Given the description of an element on the screen output the (x, y) to click on. 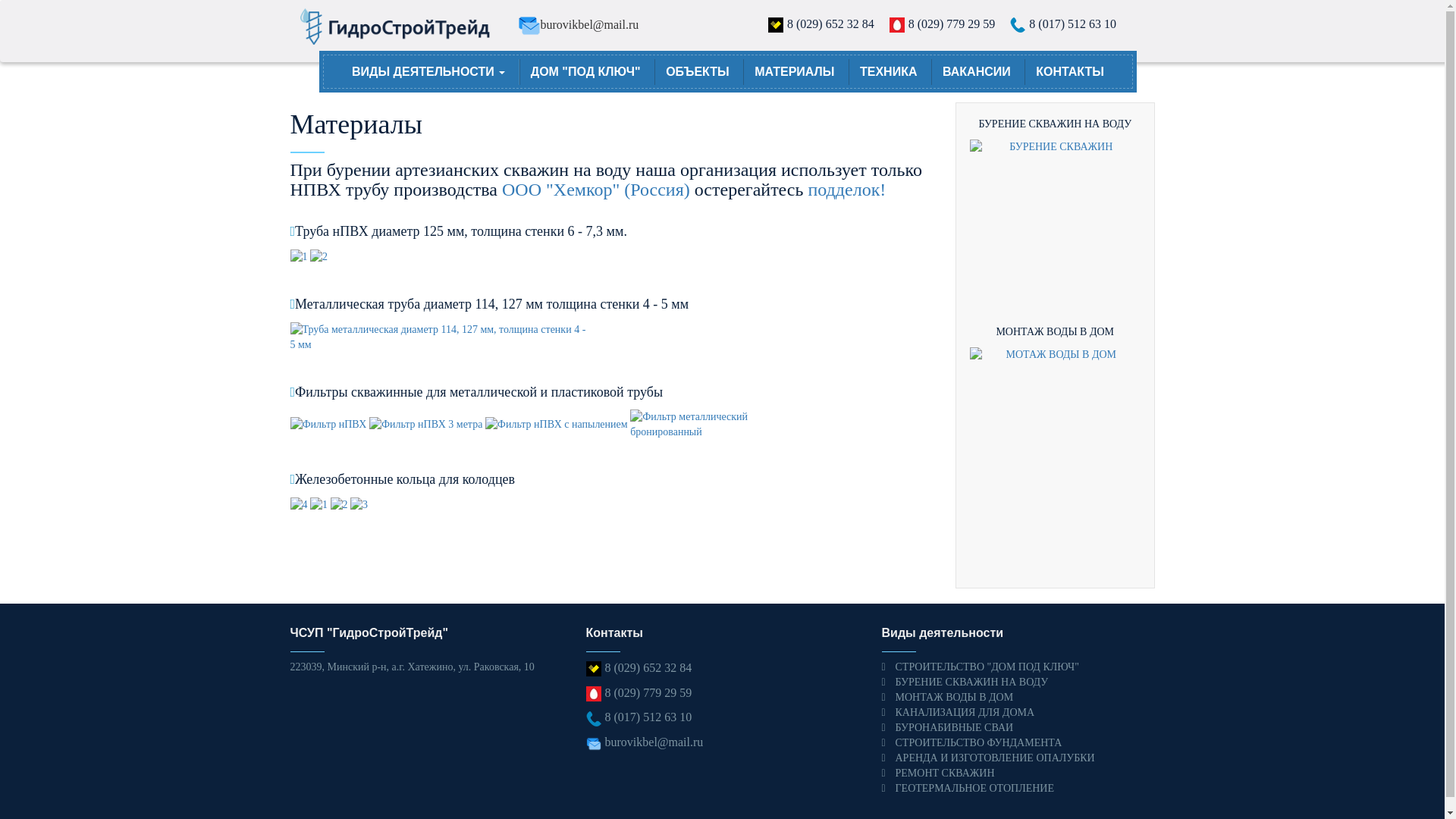
burovikbel@mail.ru Element type: text (654, 741)
8 (017) 512 63 10 Element type: text (648, 716)
burovikbel@mail.ru Element type: text (588, 24)
8 (029) 652 32 84 Element type: text (648, 667)
8 (029) 779 29 59 Element type: text (951, 23)
8 (029) 652 32 84 Element type: text (830, 23)
8 (029) 779 29 59 Element type: text (648, 692)
8 (017) 512 63 10 Element type: text (1072, 23)
